Given the description of an element on the screen output the (x, y) to click on. 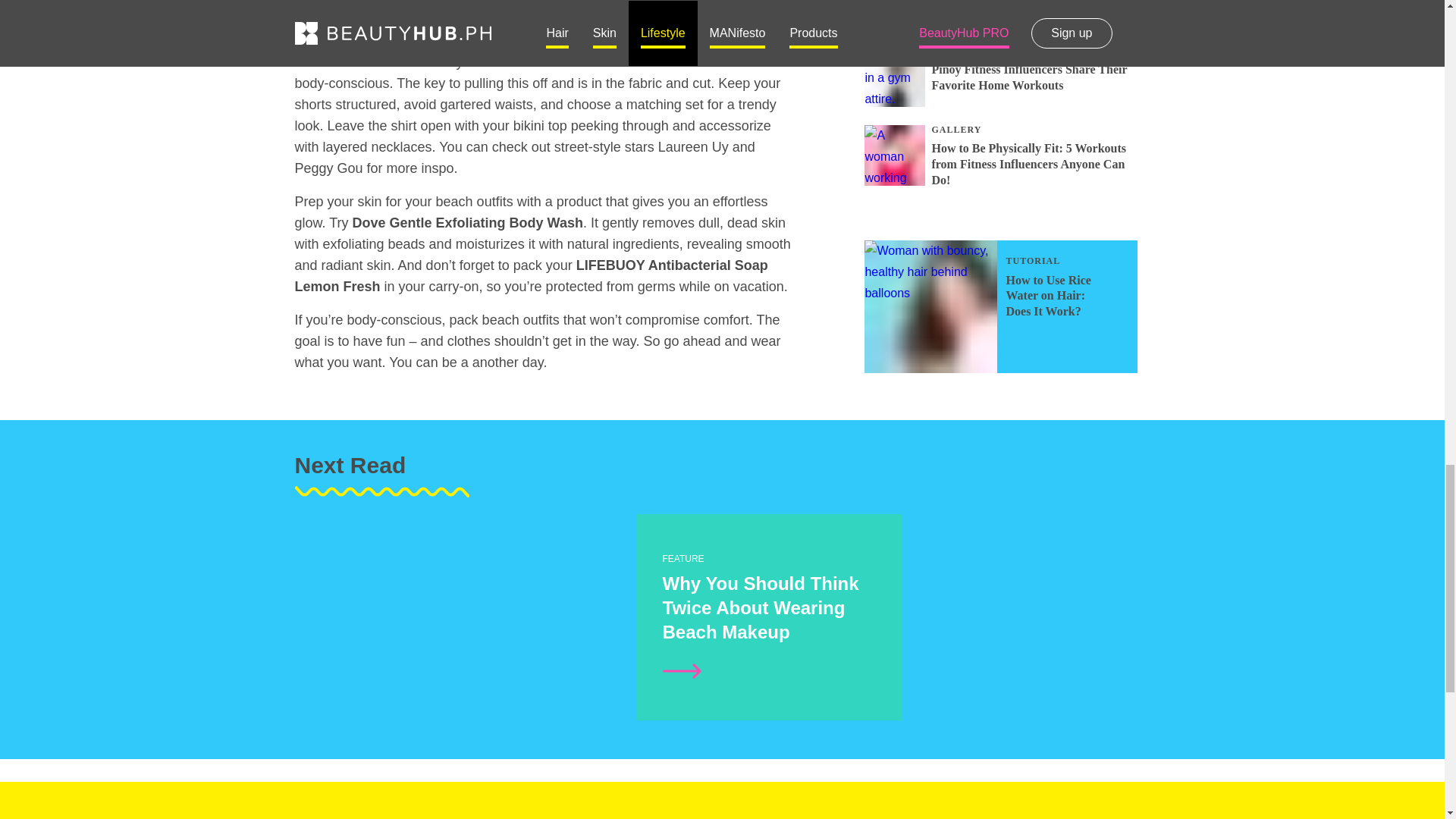
Click to see Article details (487, 712)
Click to see Article details (682, 671)
